Given the description of an element on the screen output the (x, y) to click on. 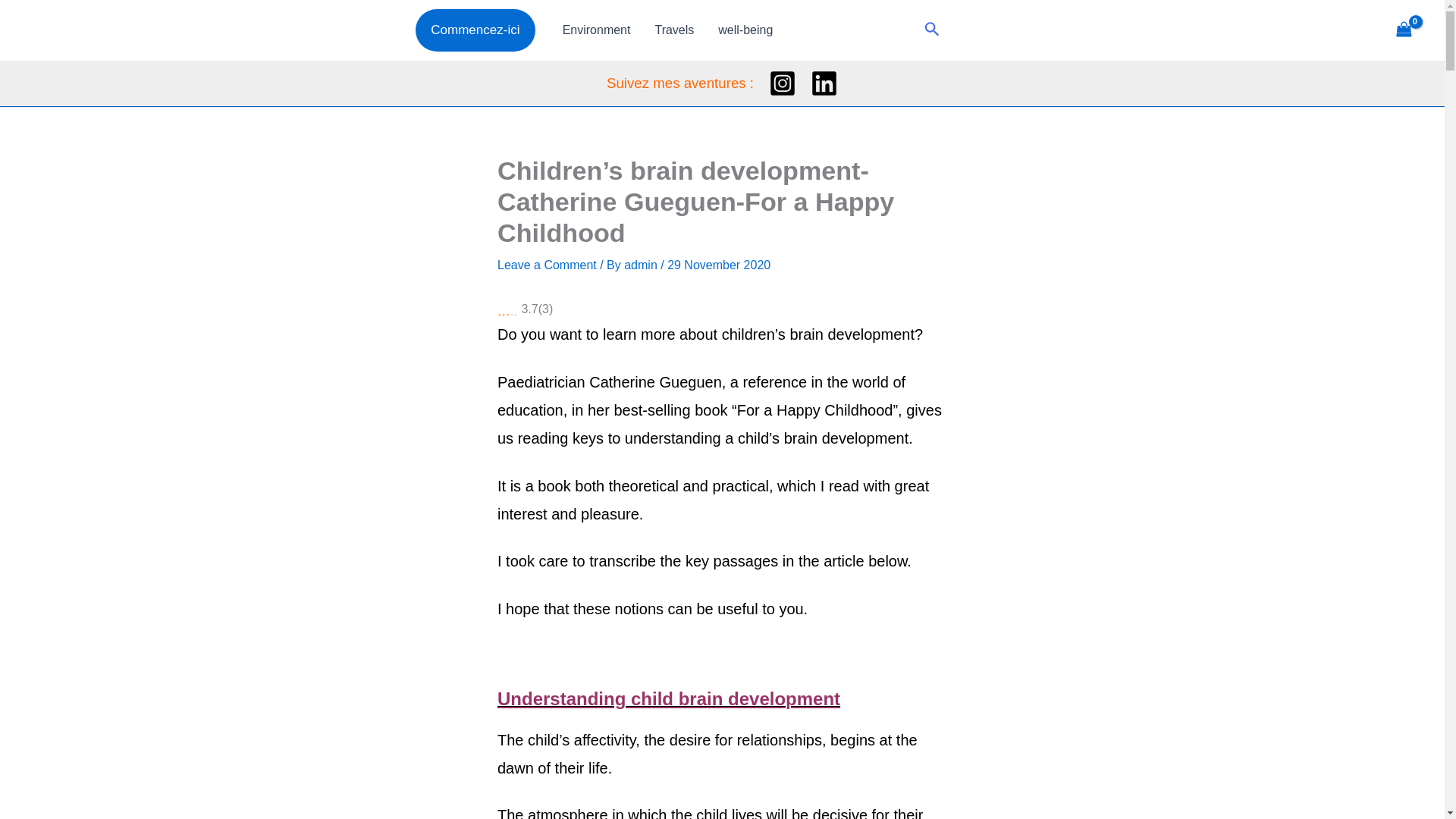
Commencez-ici (474, 30)
well-being (745, 30)
Travels (674, 30)
View all posts by admin (642, 264)
Environment (596, 30)
admin (642, 264)
Leave a Comment (546, 264)
